Given the description of an element on the screen output the (x, y) to click on. 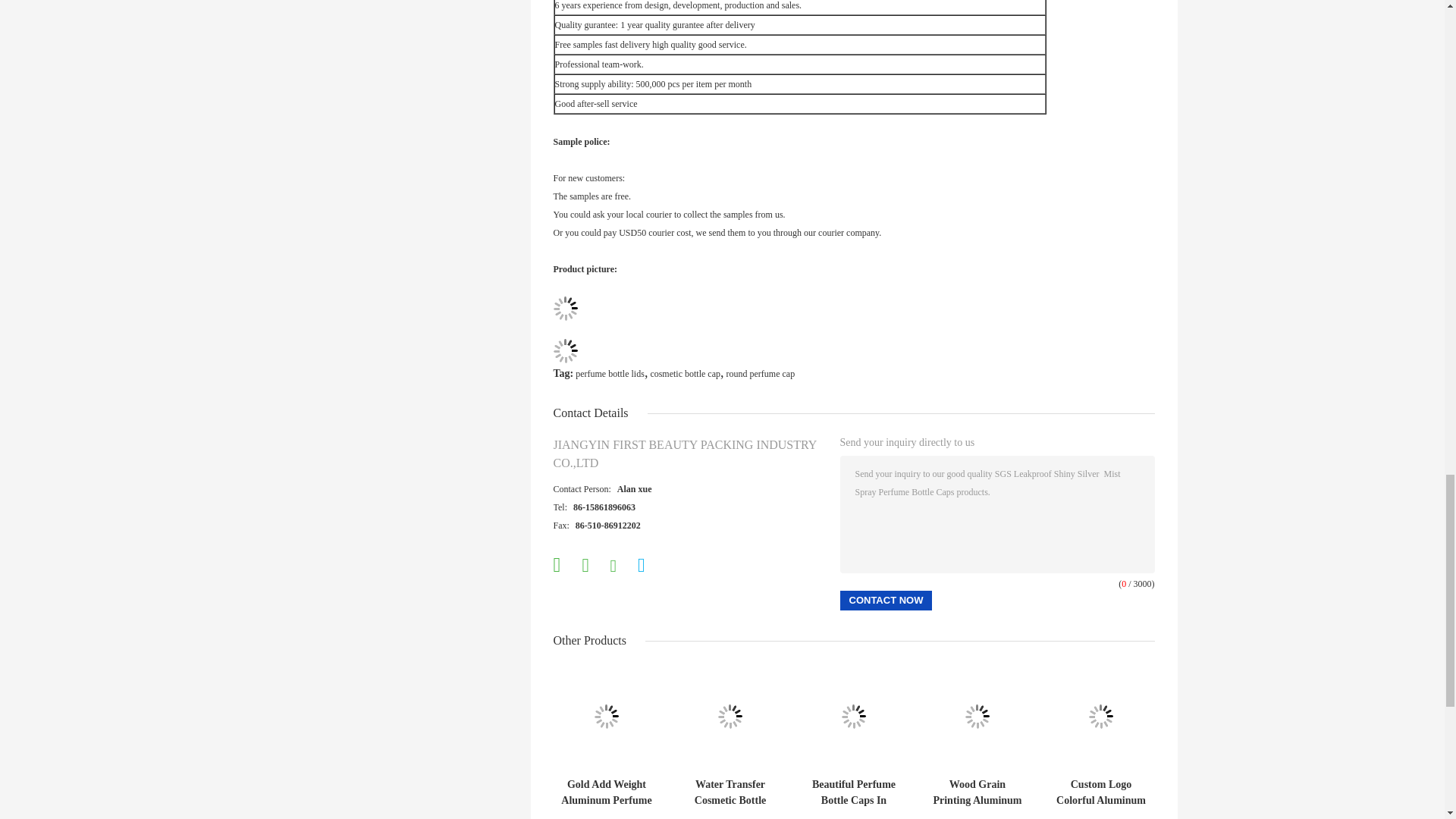
Contact Now (886, 600)
